Given the description of an element on the screen output the (x, y) to click on. 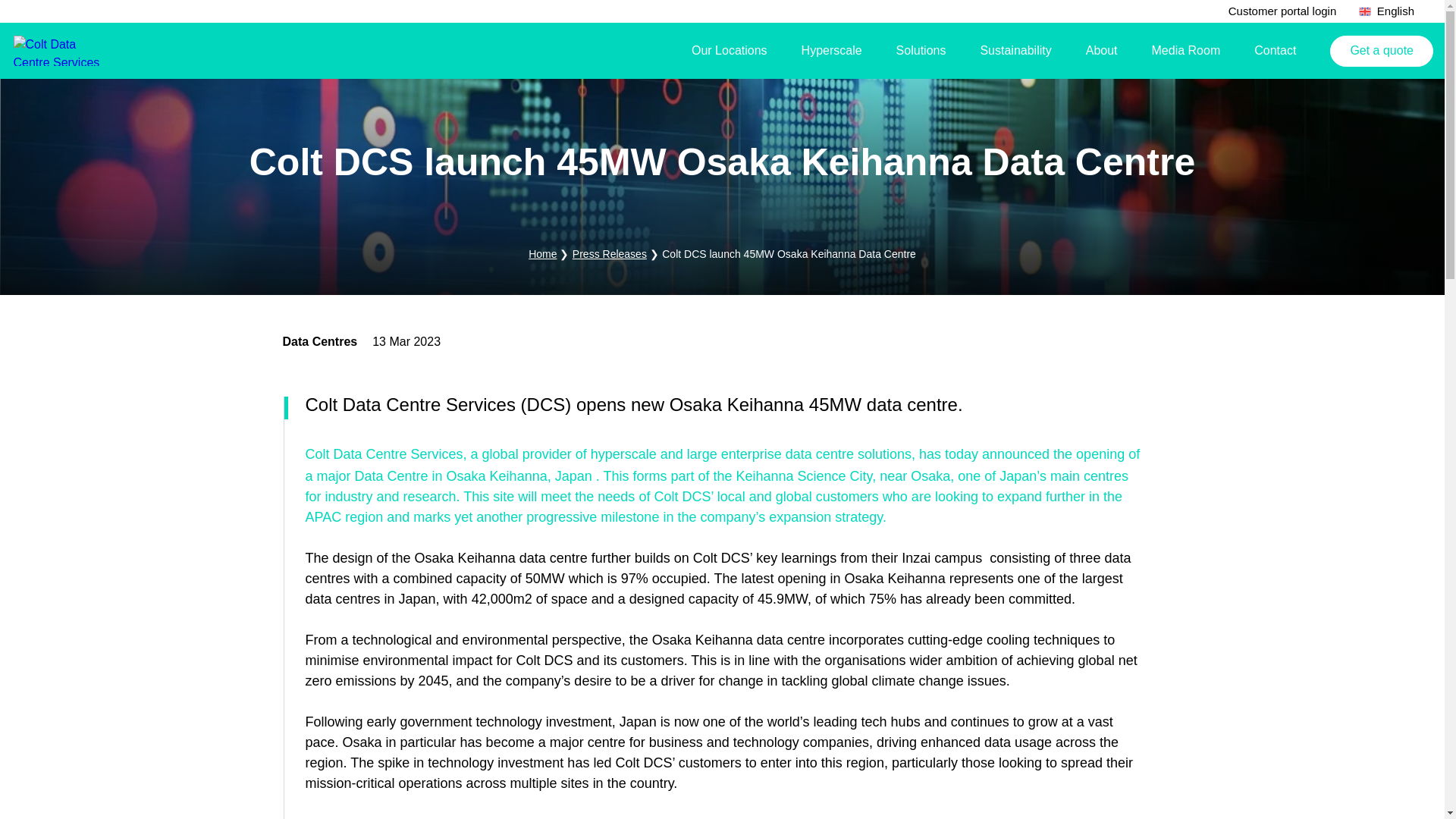
Our Locations (734, 50)
English (1386, 11)
Hyperscale (837, 50)
Customer portal login (1282, 11)
